Given the description of an element on the screen output the (x, y) to click on. 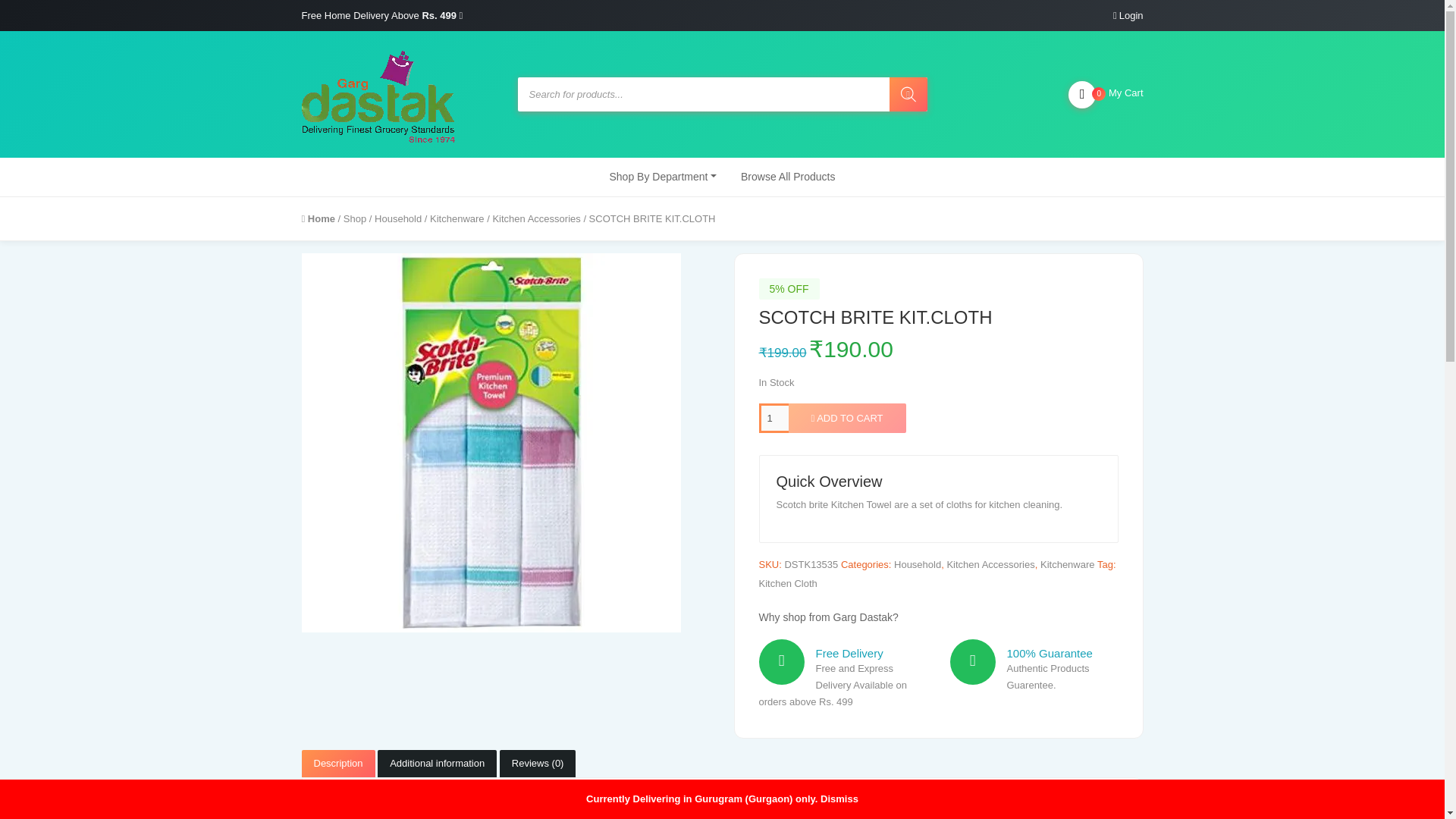
Free Home Delivery Above Rs. 499 (382, 15)
Gargdastak (1105, 94)
1 (377, 93)
Login (772, 418)
Shop By Department (1130, 15)
